Given the description of an element on the screen output the (x, y) to click on. 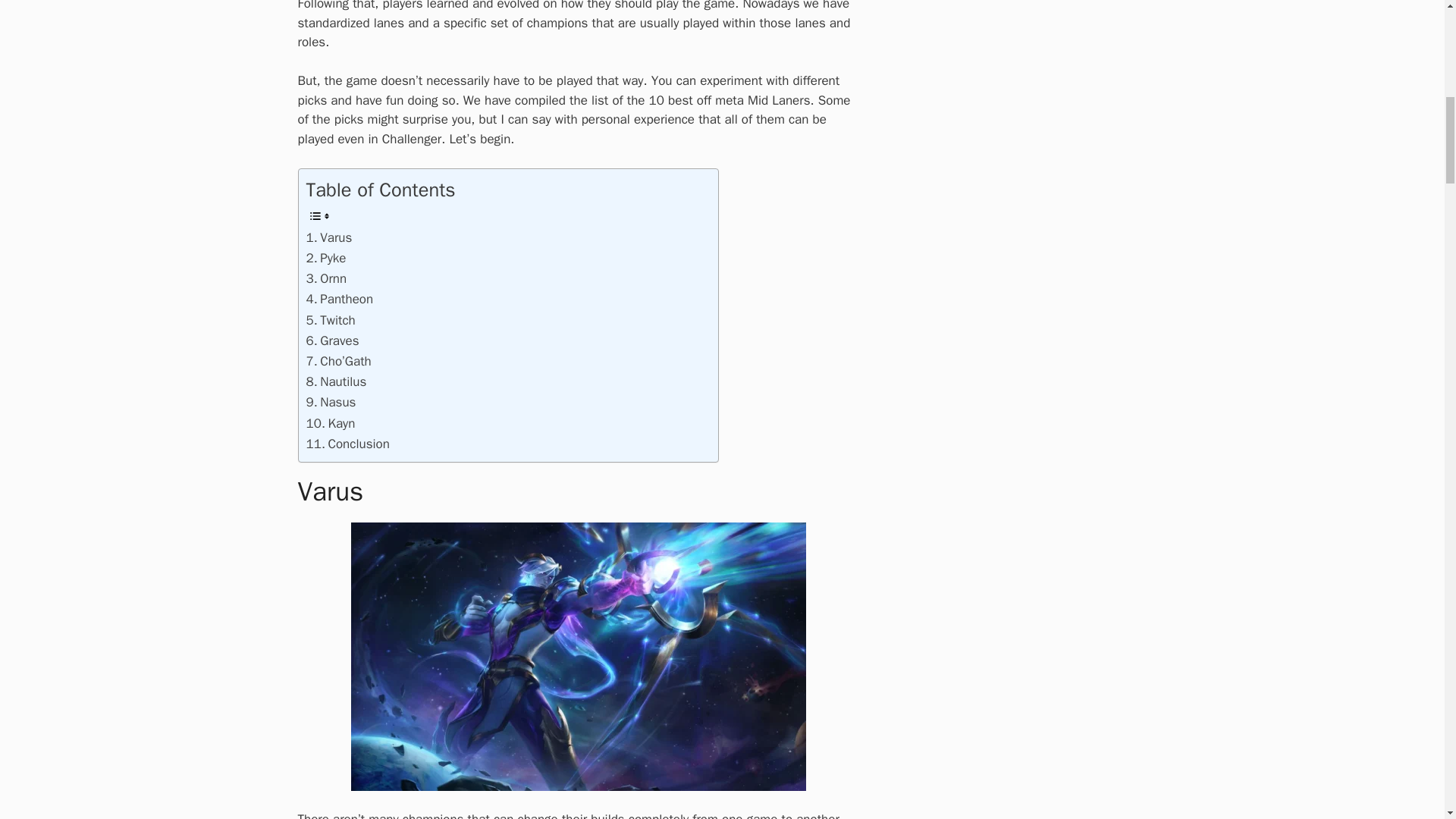
Pantheon (339, 299)
Ornn (326, 278)
Graves (332, 340)
Kayn (330, 423)
Nautilus (335, 381)
Graves (332, 340)
Nautilus (335, 381)
Ornn (326, 278)
Varus (328, 237)
Nasus (330, 402)
